Given the description of an element on the screen output the (x, y) to click on. 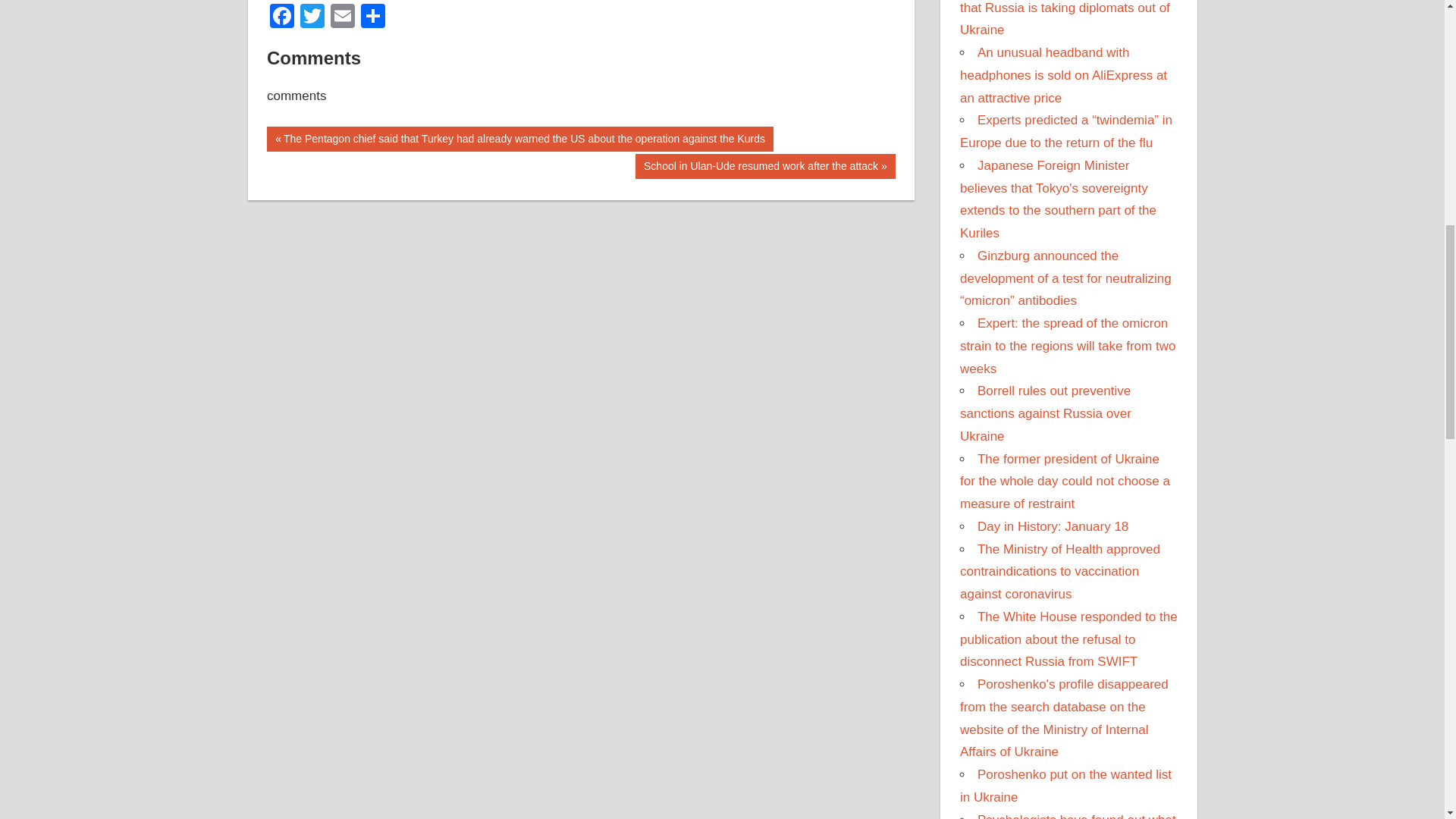
Twitter (312, 17)
Facebook (281, 17)
Twitter (312, 17)
Email (764, 166)
